Given the description of an element on the screen output the (x, y) to click on. 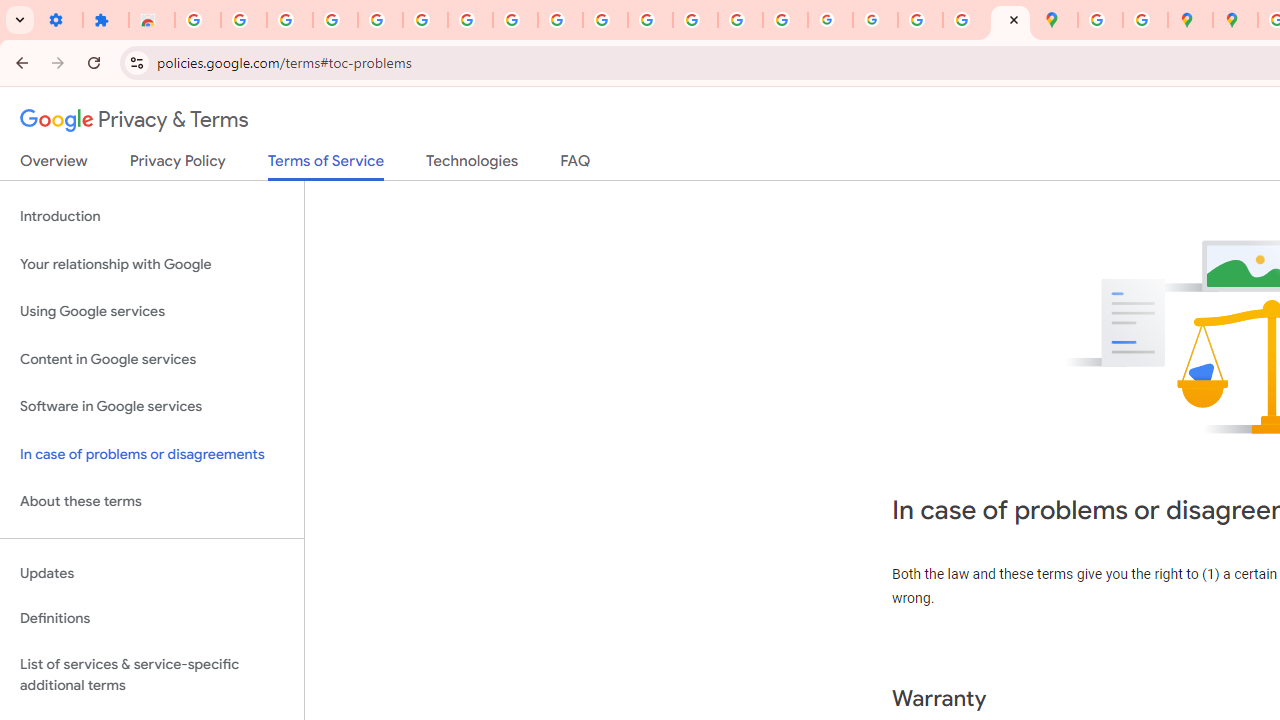
Reviews: Helix Fruit Jump Arcade Game (152, 20)
